Given the description of an element on the screen output the (x, y) to click on. 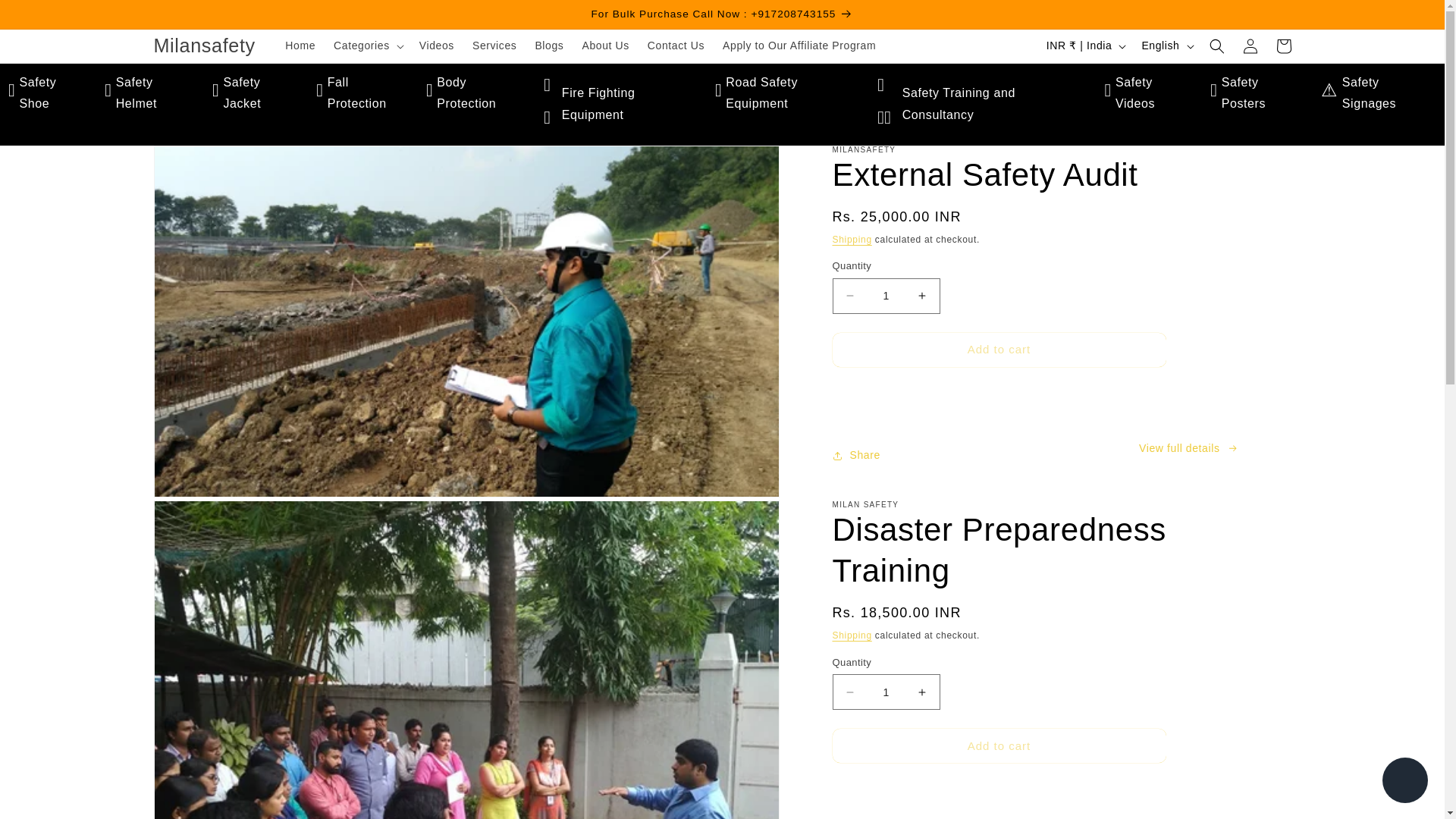
Shopify online store chat (1404, 781)
Skip to content (45, 16)
1 (886, 295)
1 (886, 692)
